Given the description of an element on the screen output the (x, y) to click on. 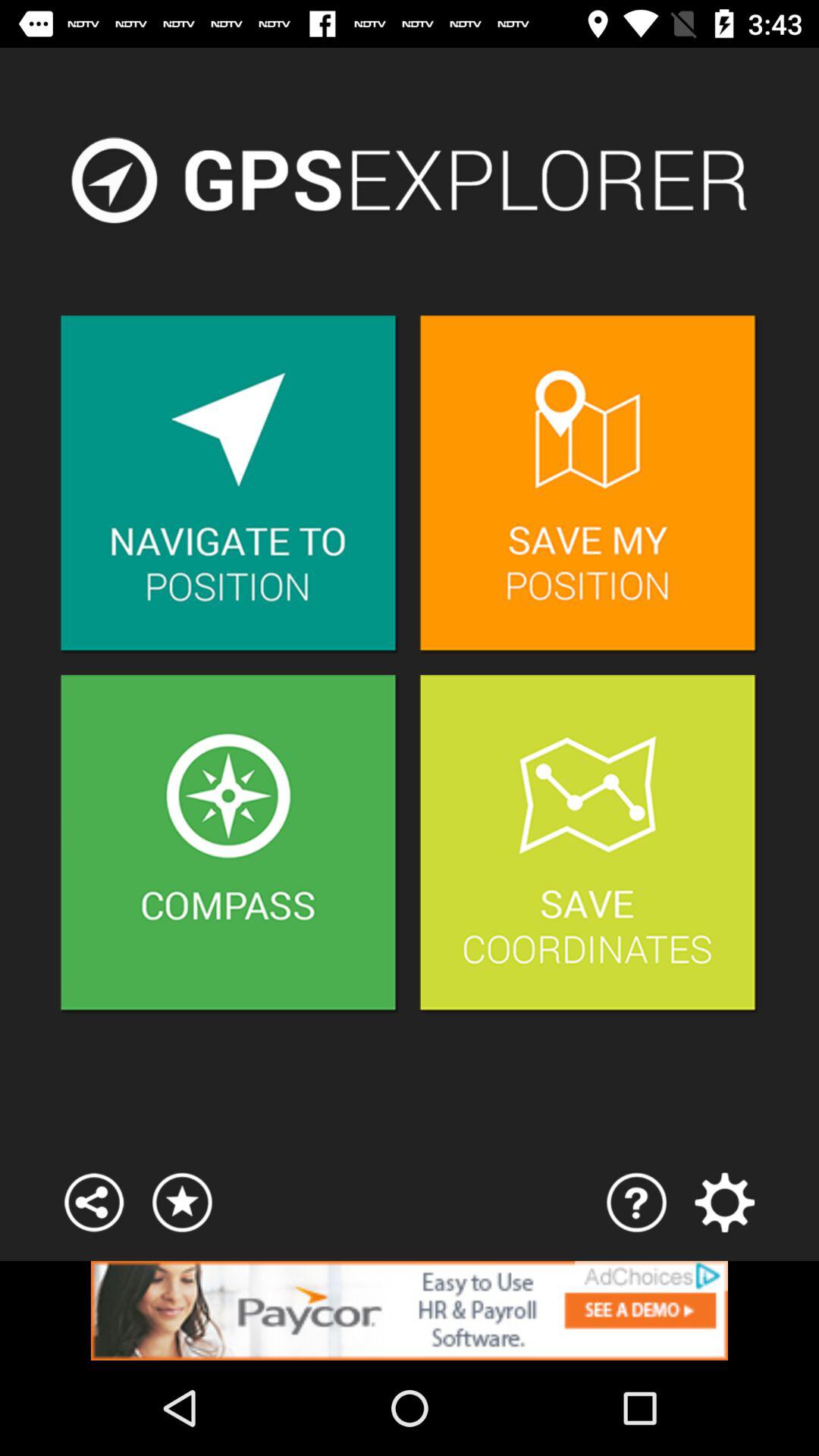
click the advertisement (409, 1310)
